Given the description of an element on the screen output the (x, y) to click on. 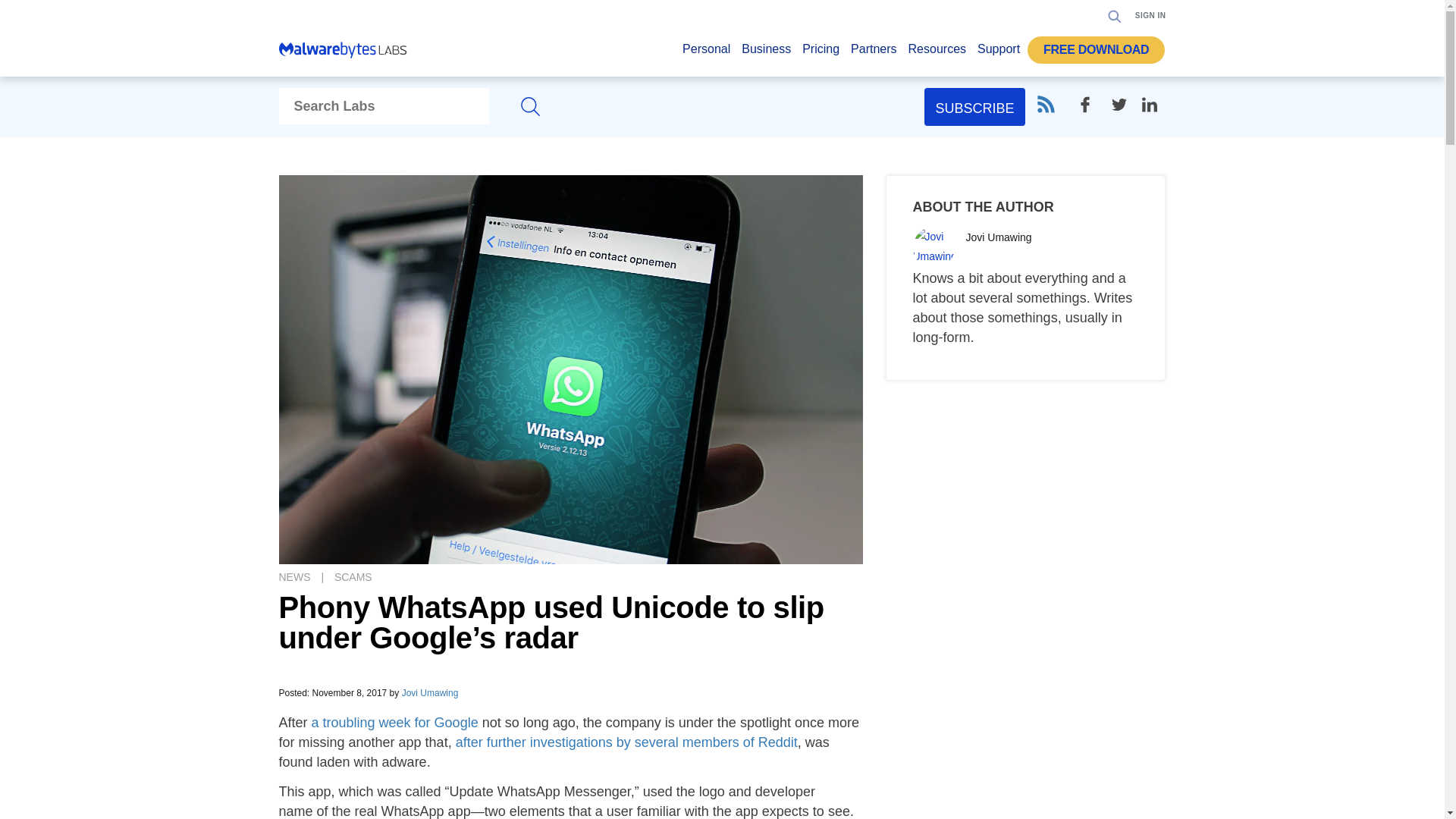
Personal (706, 52)
rss (1044, 104)
SIGN IN (1150, 15)
Business (765, 52)
Search (1114, 15)
Search (1110, 62)
